Given the description of an element on the screen output the (x, y) to click on. 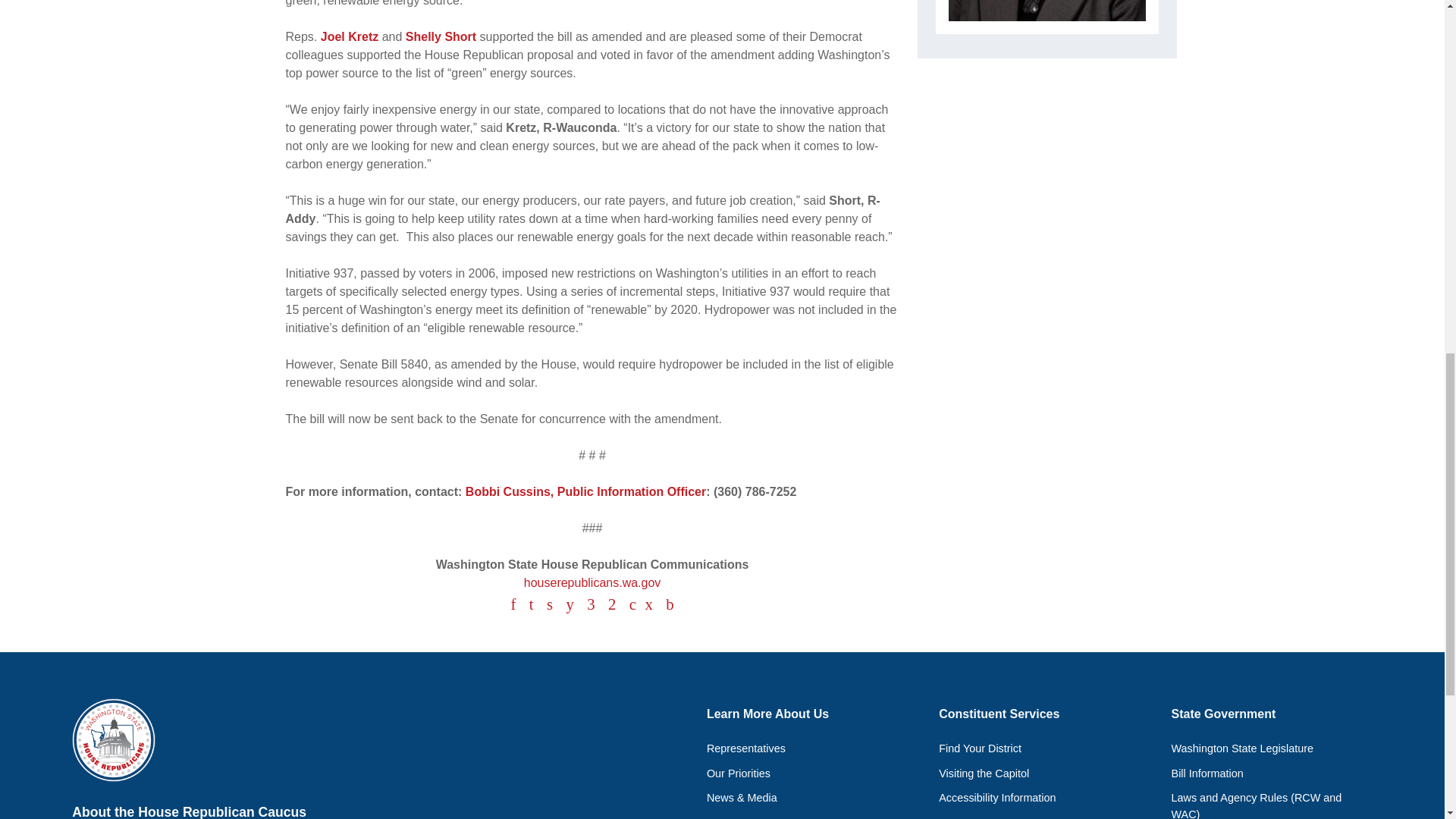
houserepublicans.wa.gov (592, 582)
Joel Kretz (349, 36)
Shelly Short (441, 36)
Bobbi Cussins, Public Information Officer (585, 491)
